Given the description of an element on the screen output the (x, y) to click on. 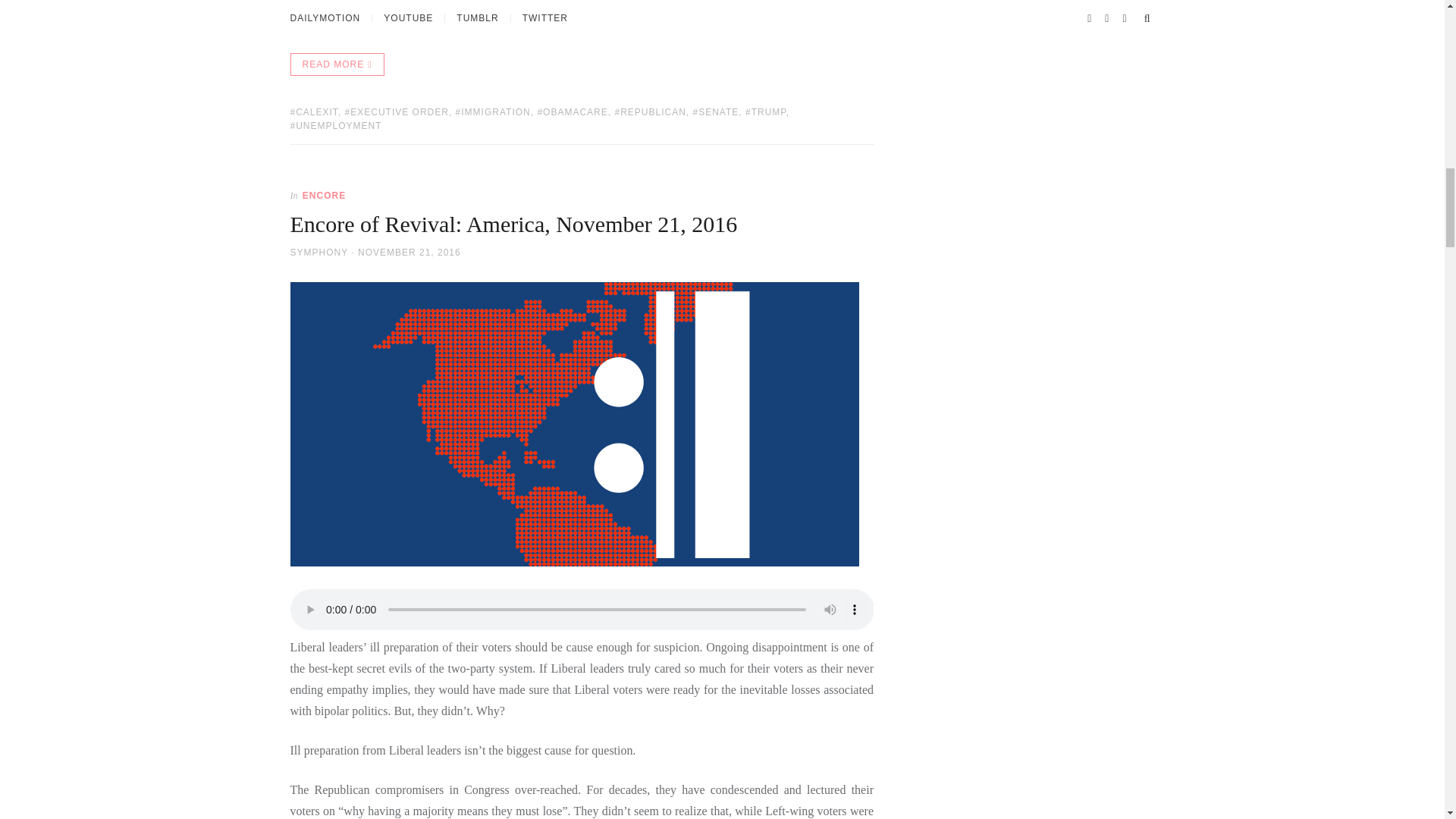
OBAMACARE (572, 112)
ENCORE (324, 195)
READ MORE (336, 64)
SENATE (715, 112)
EXECUTIVE ORDER (396, 112)
Encore of Revival: America, November 21, 2016 (512, 223)
UNEMPLOYMENT (335, 125)
REPUBLICAN (649, 112)
SYMPHONY (318, 252)
NOVEMBER 21, 2016 (409, 252)
IMMIGRATION (493, 112)
TRUMP (765, 112)
CALEXIT (313, 112)
